Given the description of an element on the screen output the (x, y) to click on. 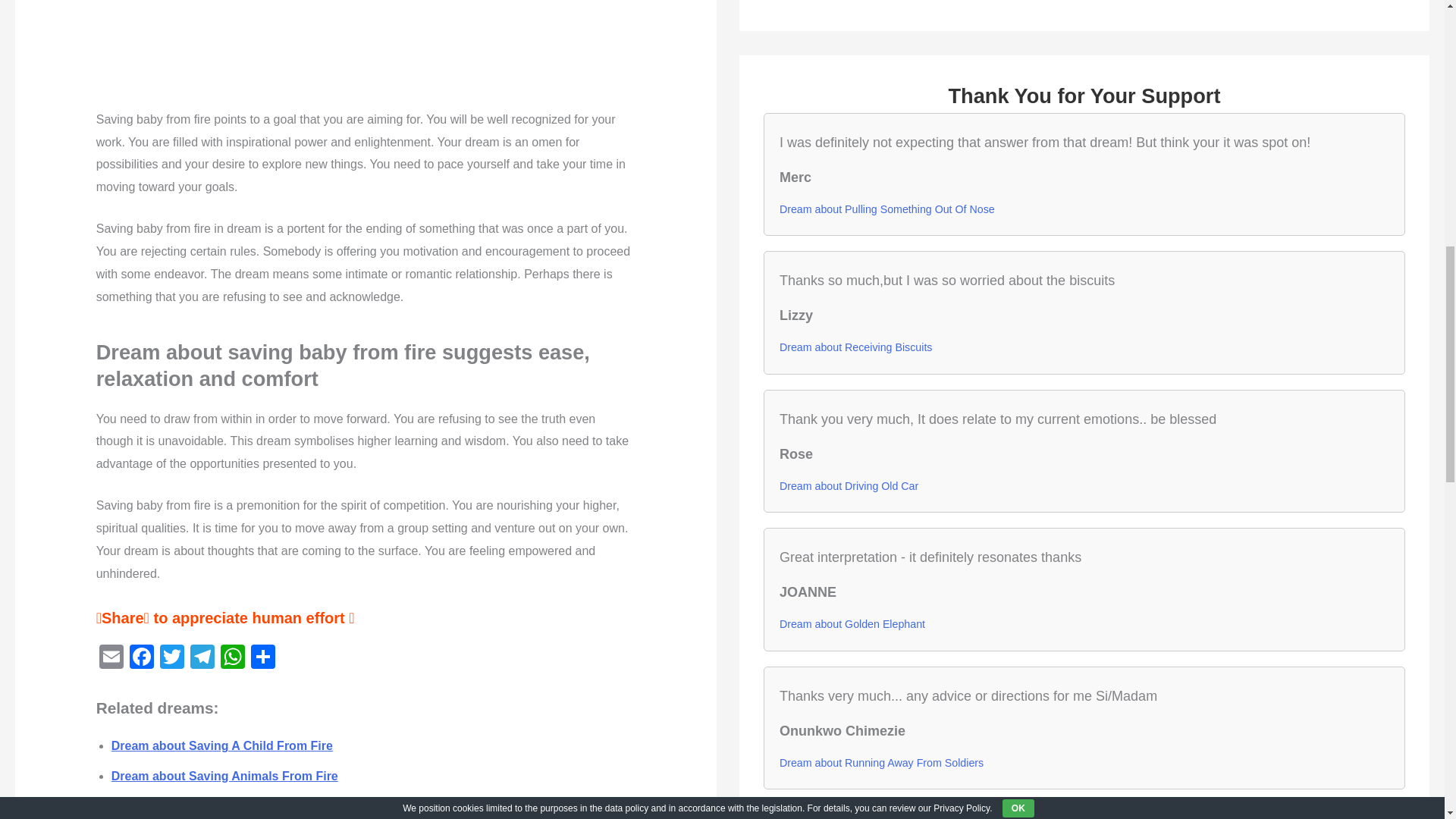
Dream about Saving Animals From Fire (224, 775)
Twitter (172, 658)
Telegram (201, 658)
Advertisement (365, 47)
Twitter (172, 658)
Email (111, 658)
Facebook (141, 658)
Telegram (201, 658)
Email (111, 658)
Dream about Saving Family From Fire (221, 806)
